Given the description of an element on the screen output the (x, y) to click on. 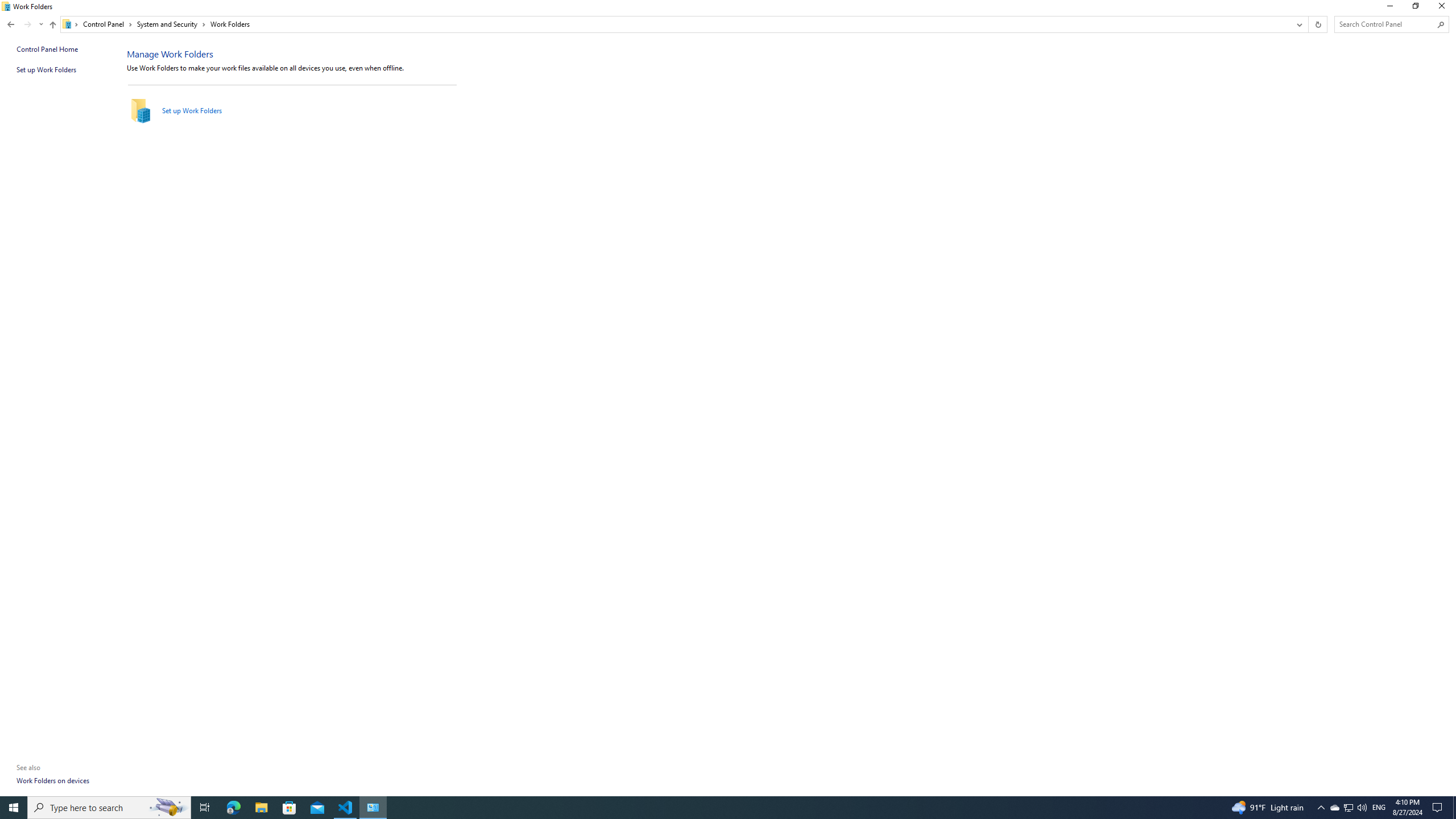
Search Box (1386, 23)
Address band toolbar (1308, 23)
Work Folders on devices (53, 780)
Control Panel Home (47, 49)
Refresh "Work Folders" (F5) (1316, 23)
Minimize (1388, 8)
Back to System and Security (Alt + Left Arrow) (10, 23)
